Given the description of an element on the screen output the (x, y) to click on. 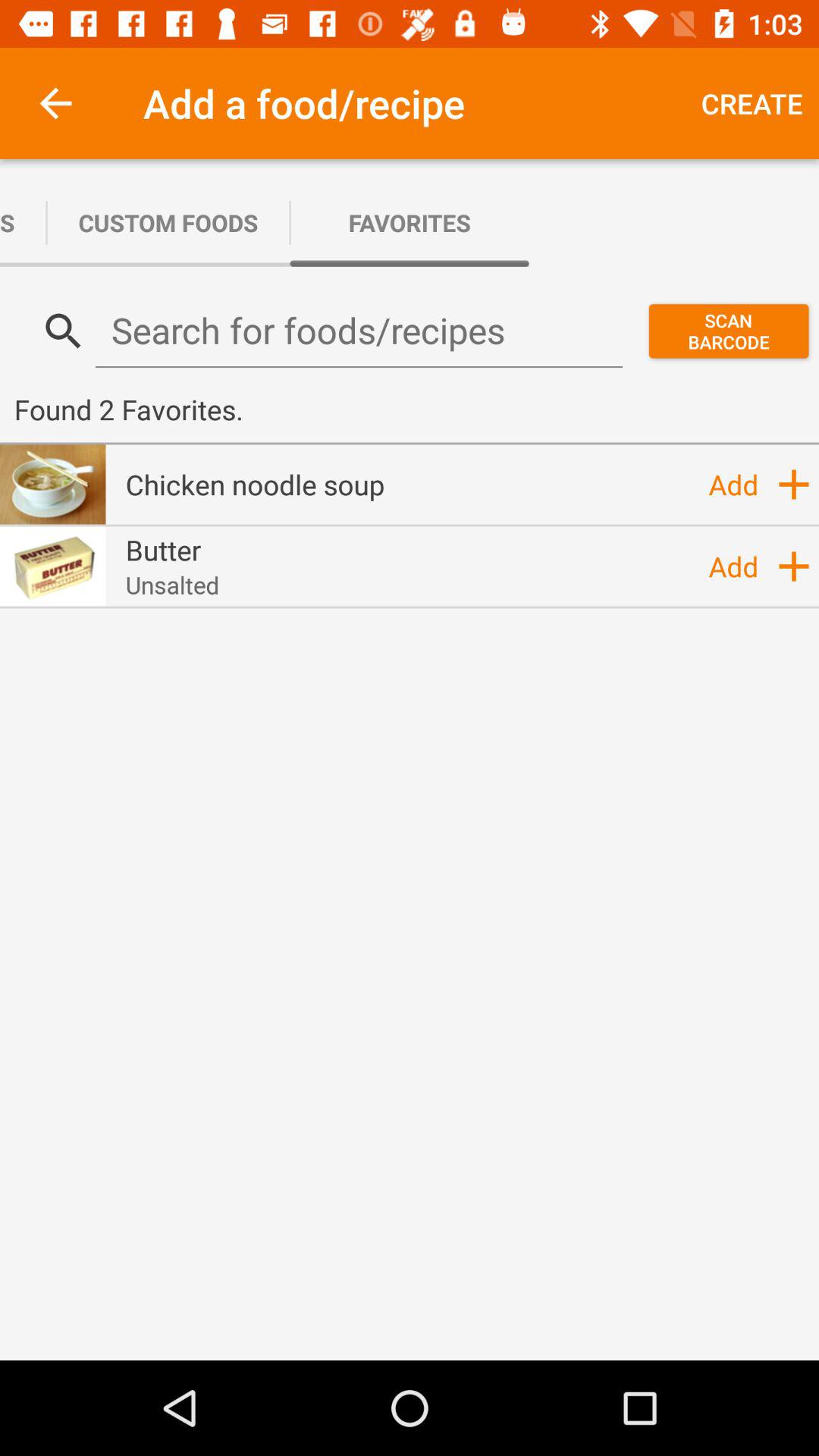
click icon above unsalted (163, 549)
